Given the description of an element on the screen output the (x, y) to click on. 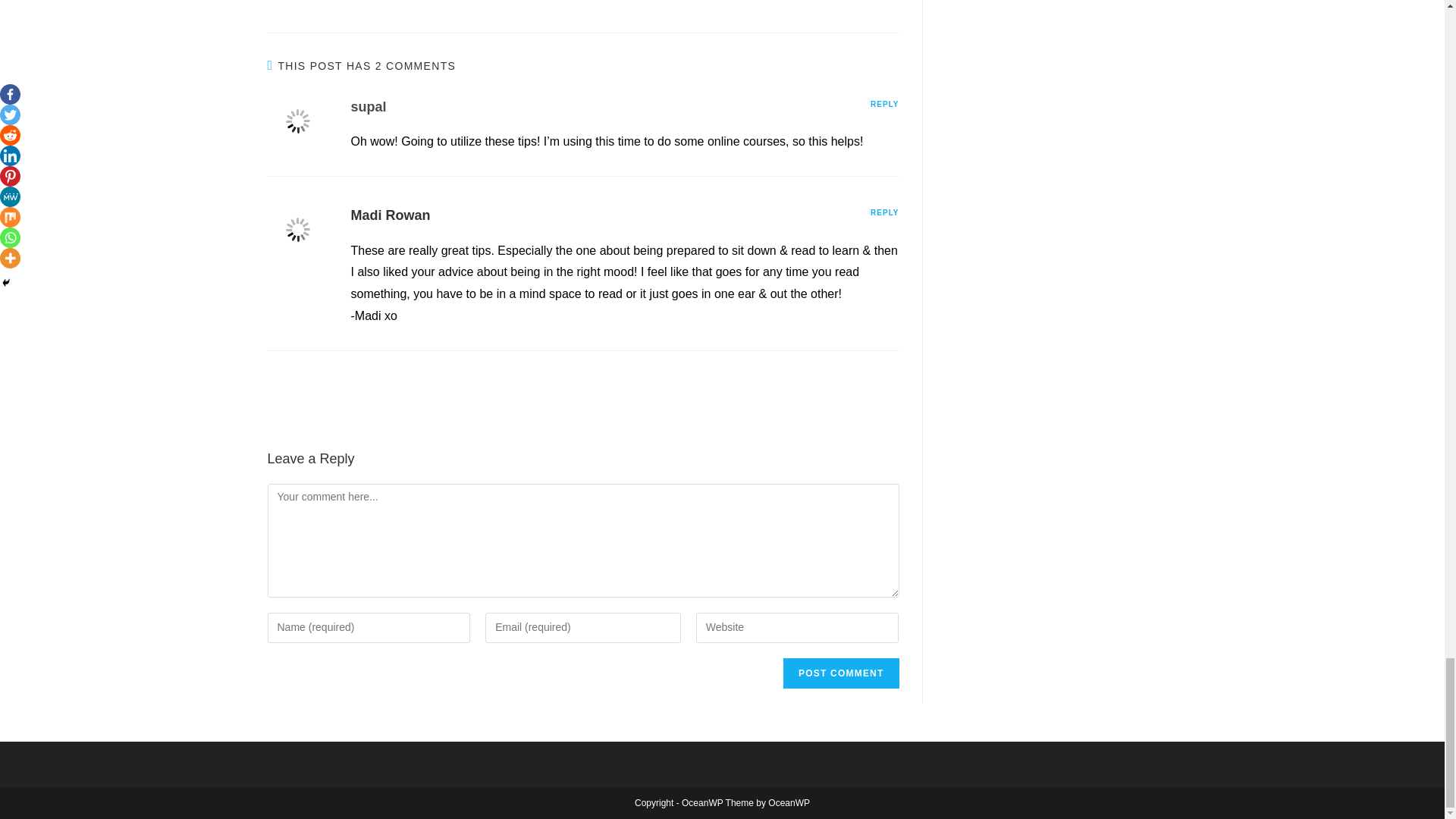
Post Comment (840, 673)
